Given the description of an element on the screen output the (x, y) to click on. 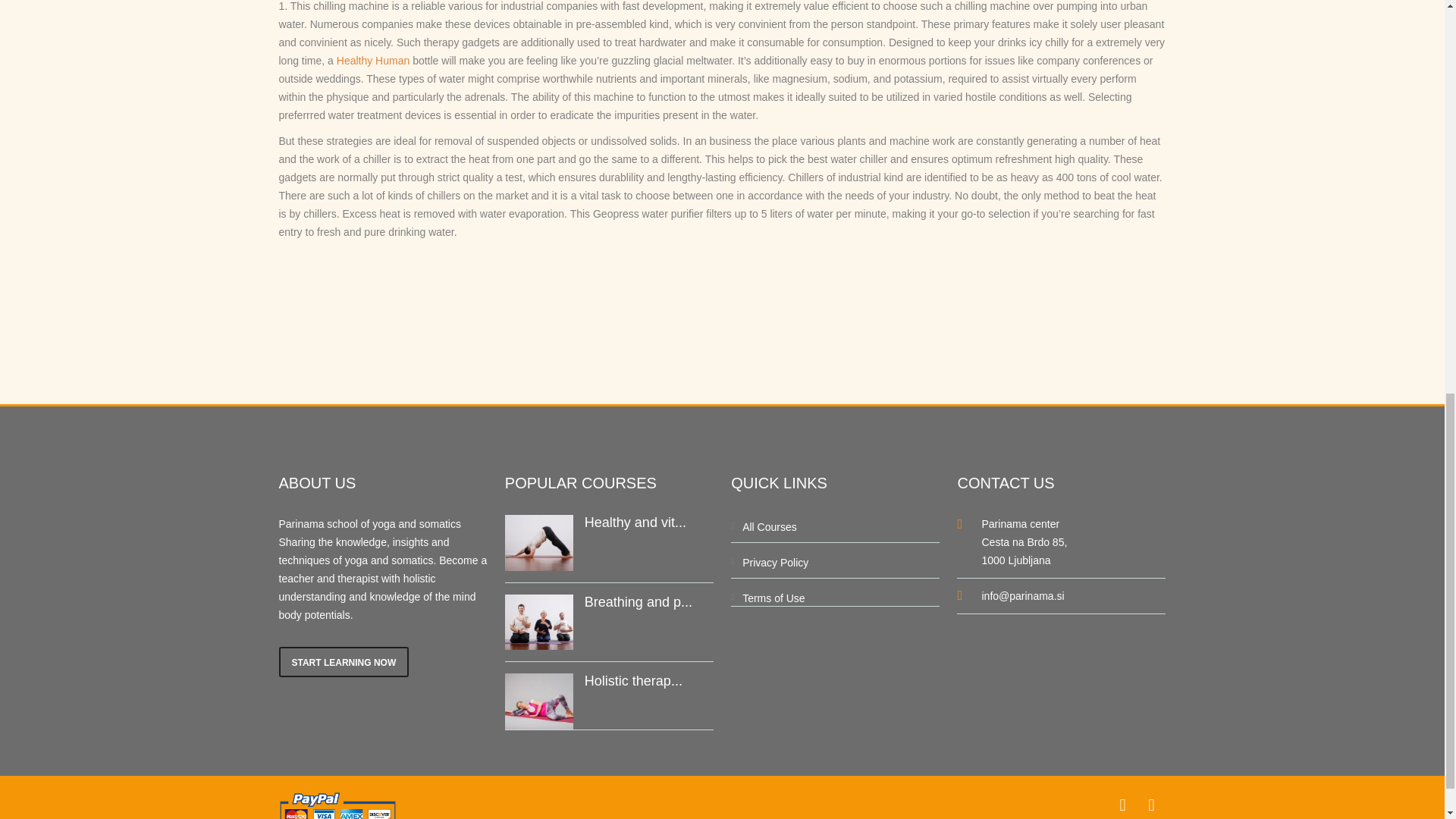
START LEARNING NOW (344, 662)
Holistic therap... (633, 680)
Healthy Human (373, 60)
Healthy and vit... (635, 522)
Breathing and p... (639, 601)
All Courses (769, 526)
Privacy Policy (775, 562)
Terms of Use (773, 598)
